Given the description of an element on the screen output the (x, y) to click on. 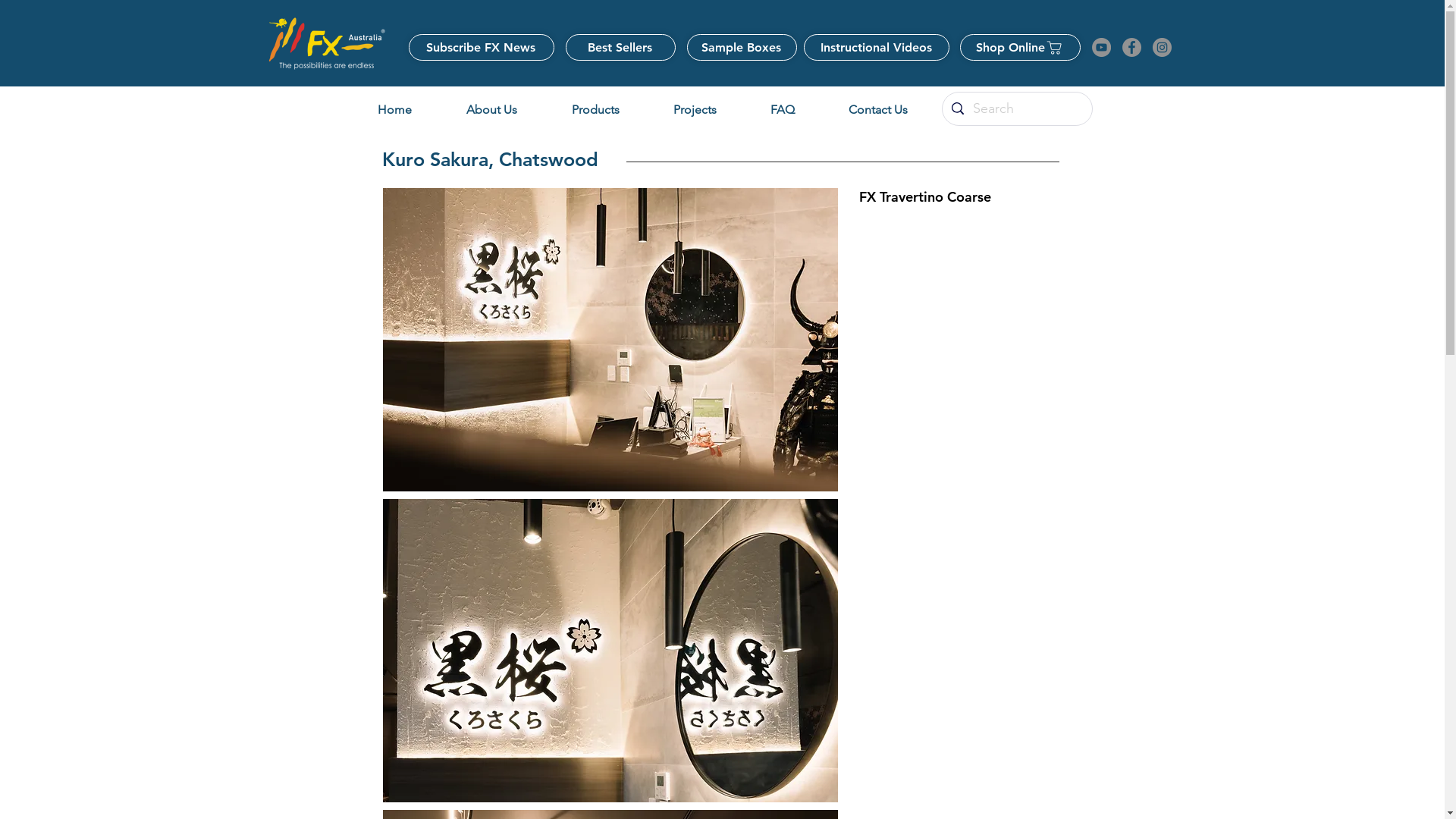
Instructional Videos Element type: text (876, 47)
Subscribe FX News Element type: text (480, 47)
Home Element type: text (394, 109)
2.jpg Element type: hover (609, 339)
Contact Us Element type: text (876, 109)
Sample Boxes Element type: text (742, 47)
Products Element type: text (595, 109)
3.jpg Element type: hover (609, 650)
Shop Online Element type: text (1020, 47)
About Us Element type: text (490, 109)
FAQ Element type: text (782, 109)
a Element type: hover (326, 43)
Best Sellers Element type: text (620, 47)
